Given the description of an element on the screen output the (x, y) to click on. 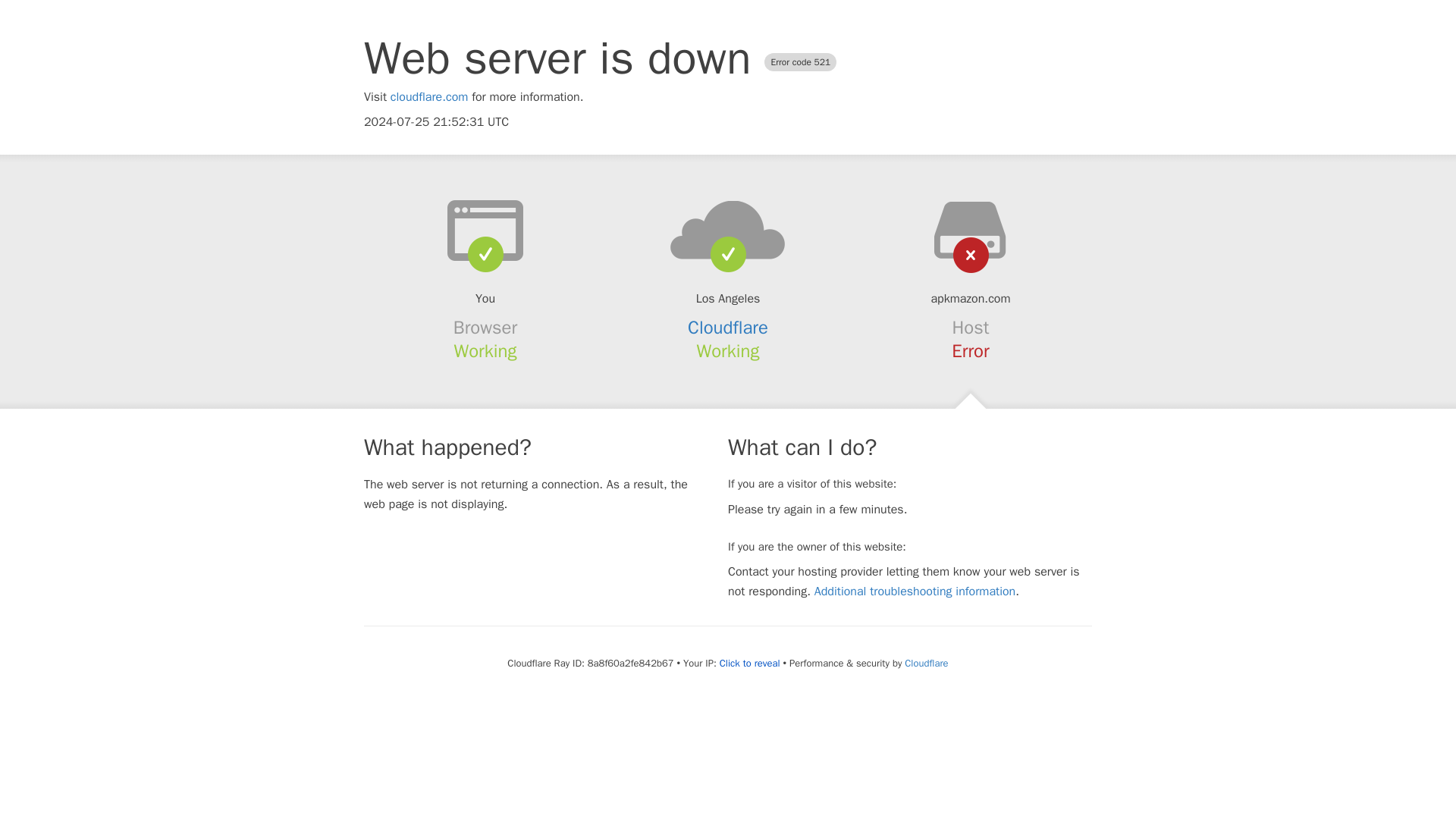
Click to reveal (749, 663)
Cloudflare (727, 327)
Additional troubleshooting information (913, 590)
cloudflare.com (429, 96)
Cloudflare (925, 662)
